Given the description of an element on the screen output the (x, y) to click on. 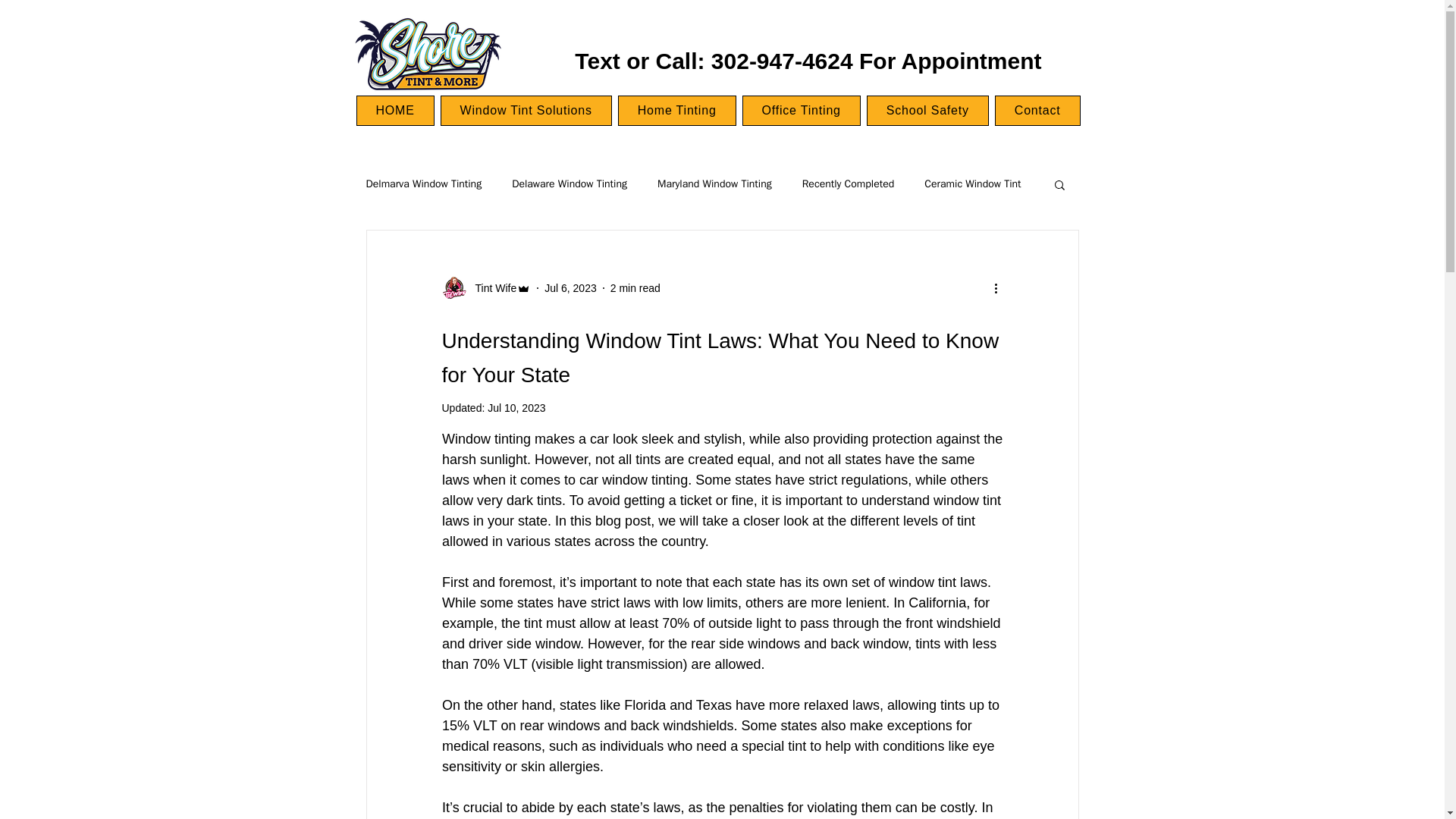
HOME (394, 110)
Home Tinting (676, 110)
Jul 10, 2023 (515, 408)
Office Tinting (801, 110)
Tint Wife (490, 288)
Shore Tint and More Inc company Logo (427, 54)
2 min read (635, 287)
Jul 6, 2023 (570, 287)
